Given the description of an element on the screen output the (x, y) to click on. 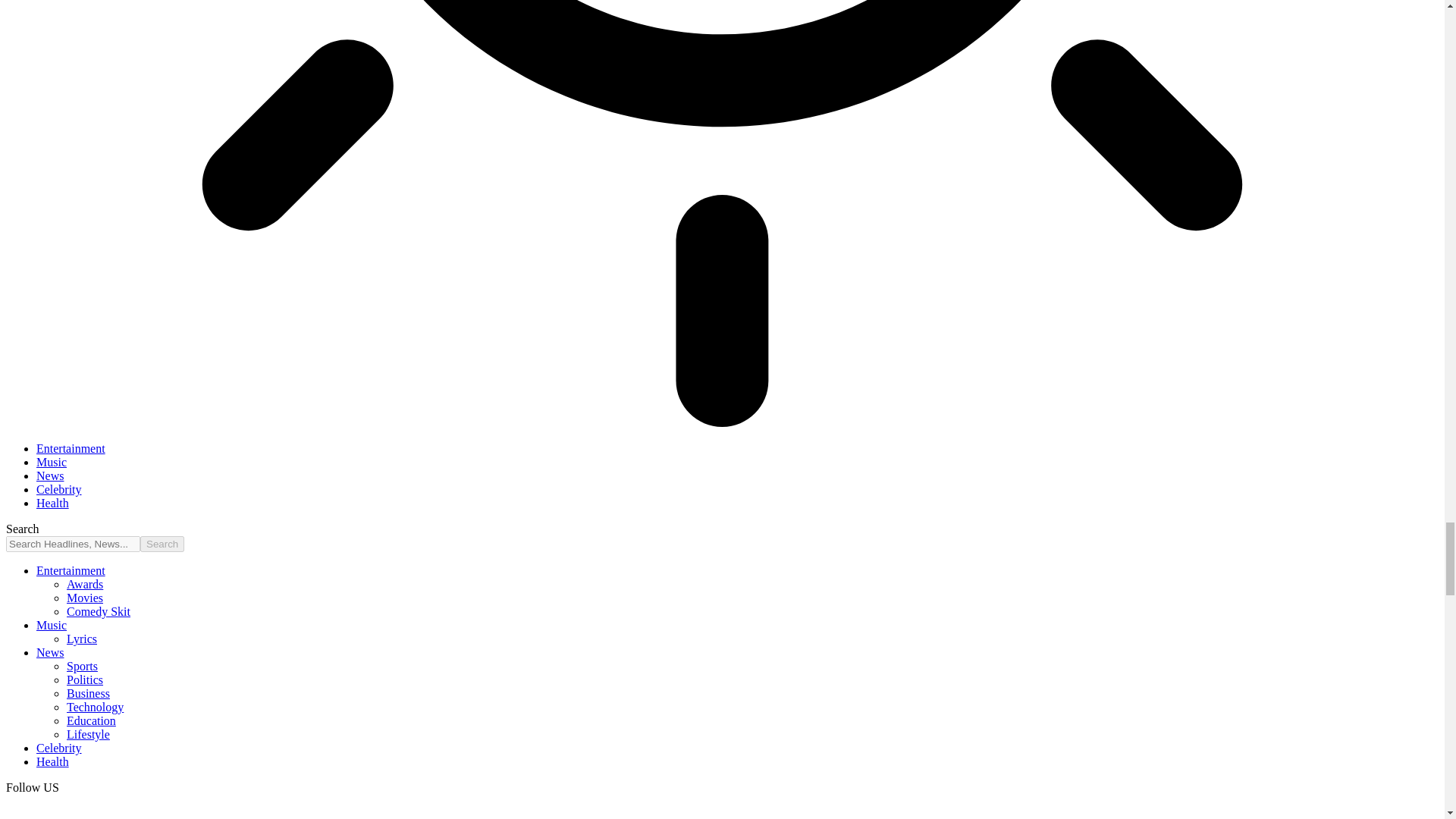
Celebrity (58, 489)
Search (161, 544)
Entertainment (70, 448)
News (50, 475)
Music (51, 461)
Health (52, 502)
